Given the description of an element on the screen output the (x, y) to click on. 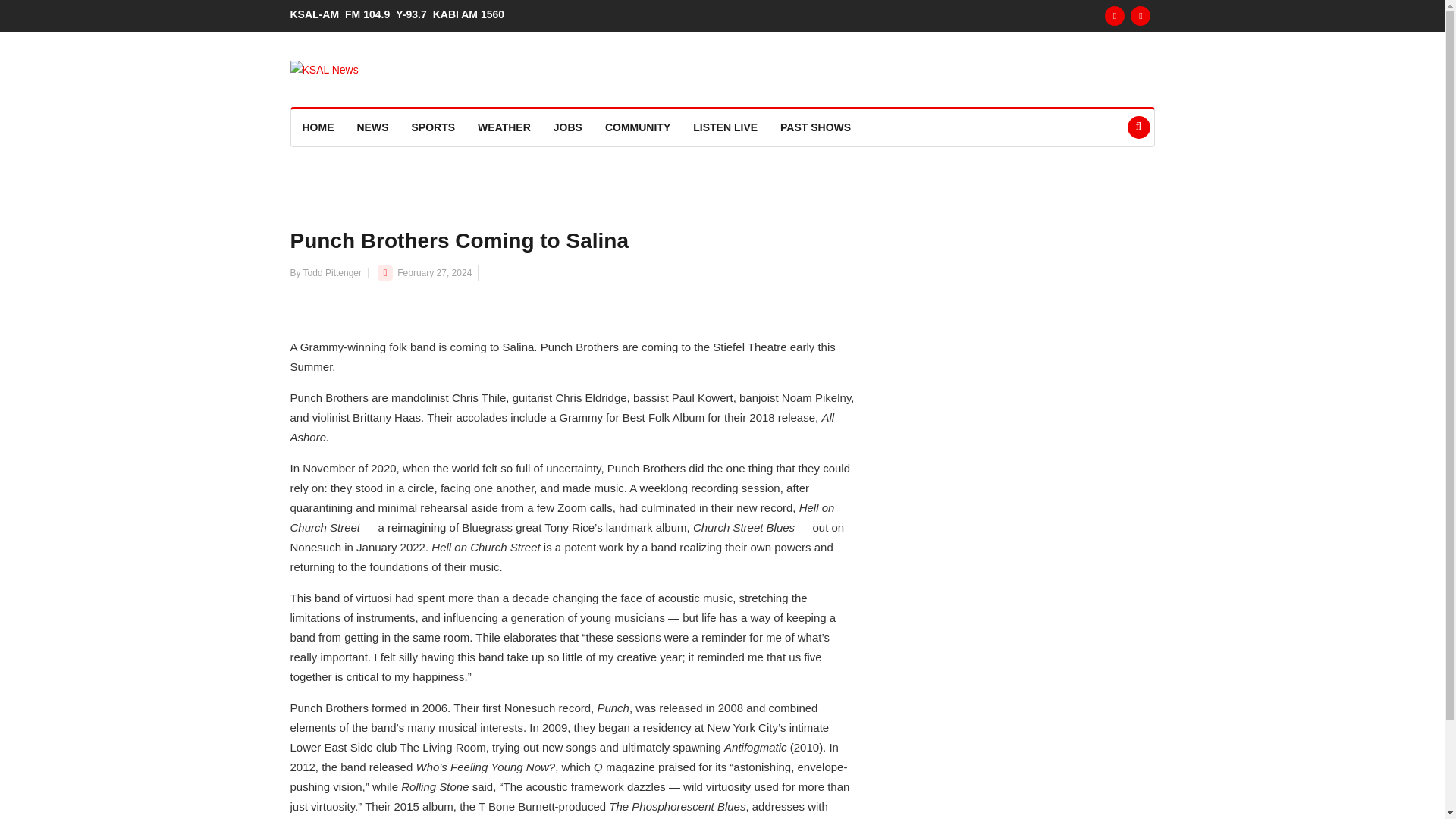
Twitter (1140, 15)
JOBS (567, 127)
Facebook (1114, 15)
Y-93.7 (414, 13)
KSAL-AM (317, 13)
NEWS (373, 127)
COMMUNITY (637, 127)
SPORTS (433, 127)
HOME (318, 127)
KABI AM 1560 (471, 13)
